Given the description of an element on the screen output the (x, y) to click on. 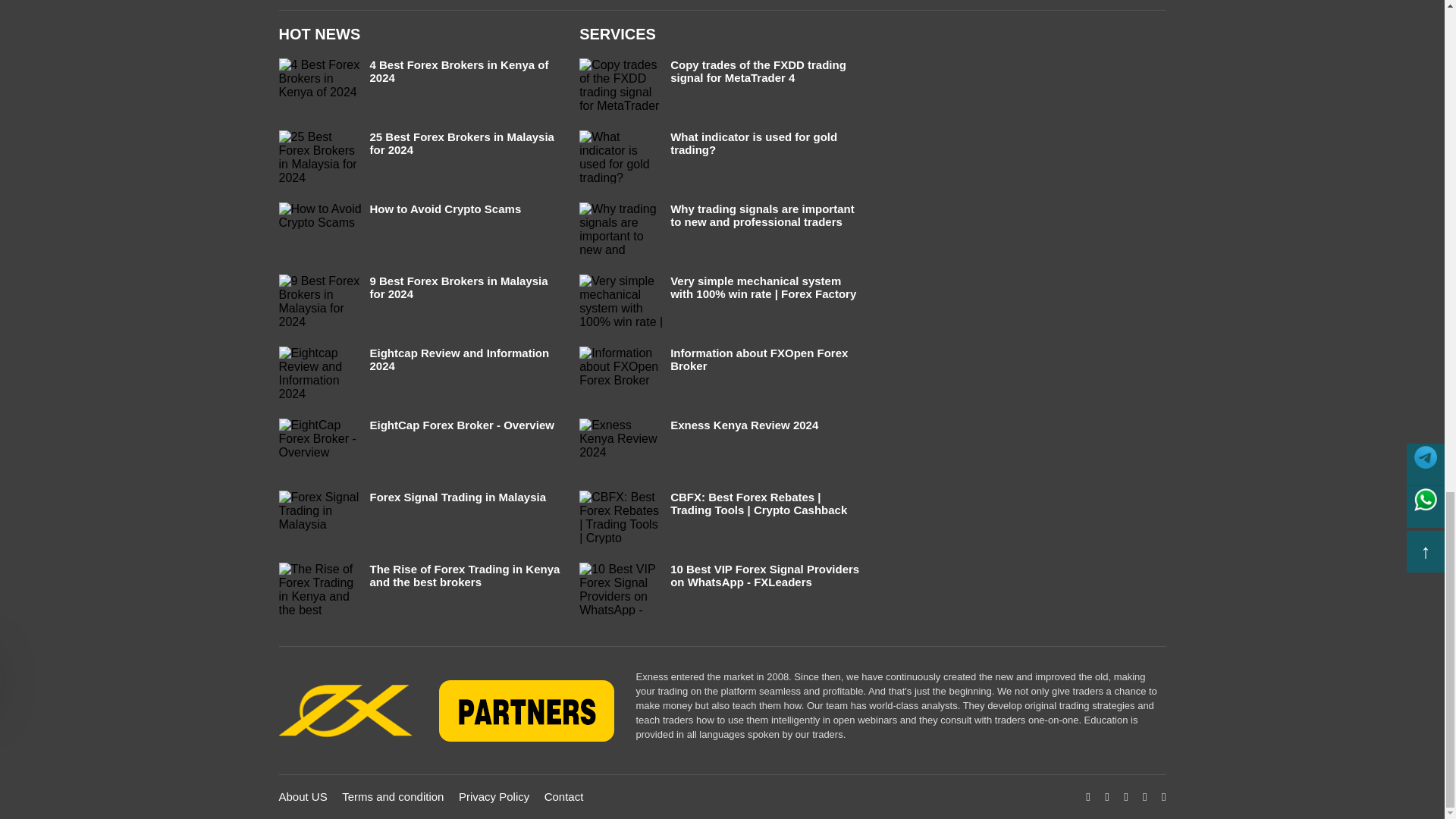
Exness Guide (450, 710)
